Given the description of an element on the screen output the (x, y) to click on. 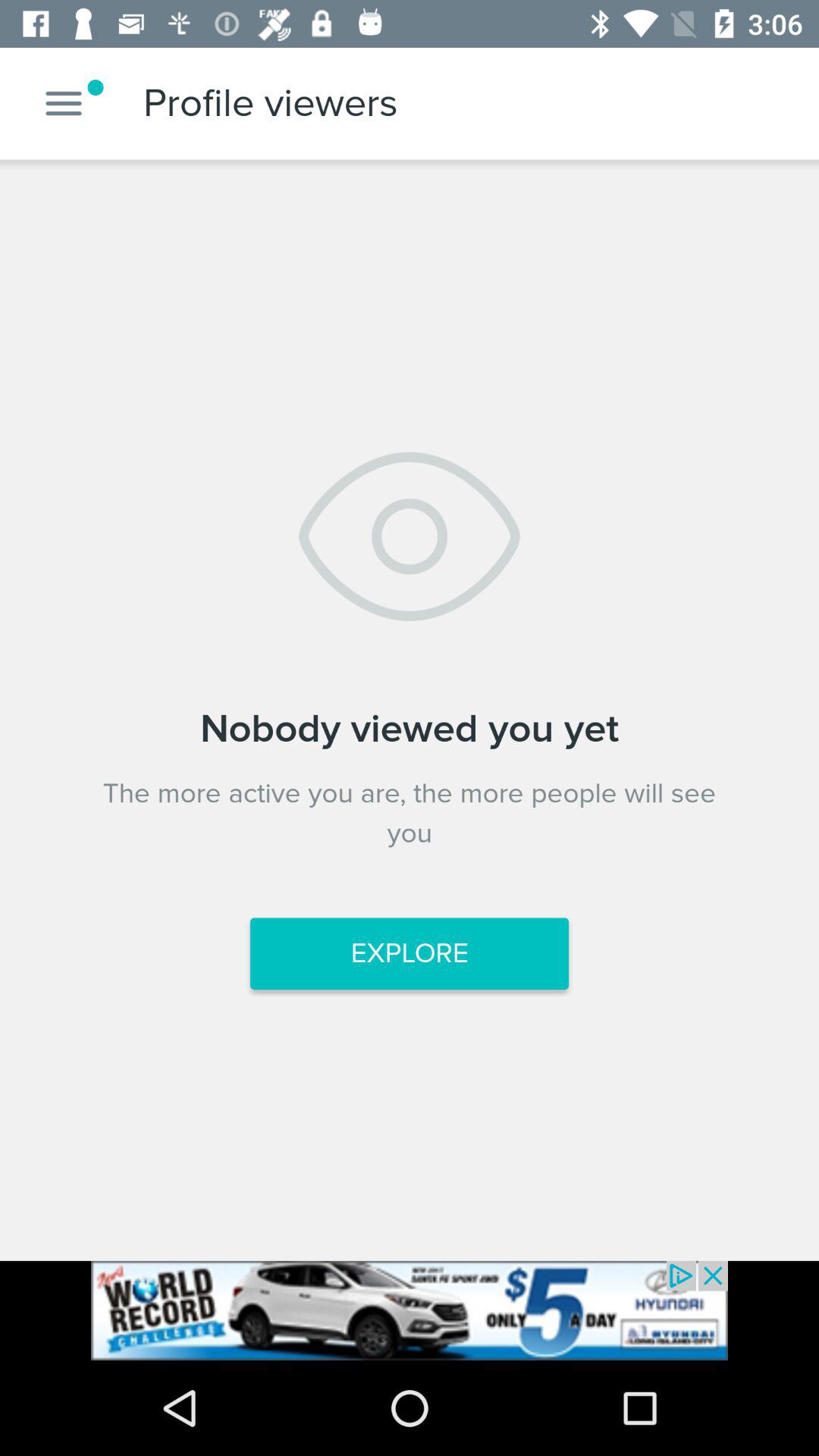
open the menu (63, 103)
